Given the description of an element on the screen output the (x, y) to click on. 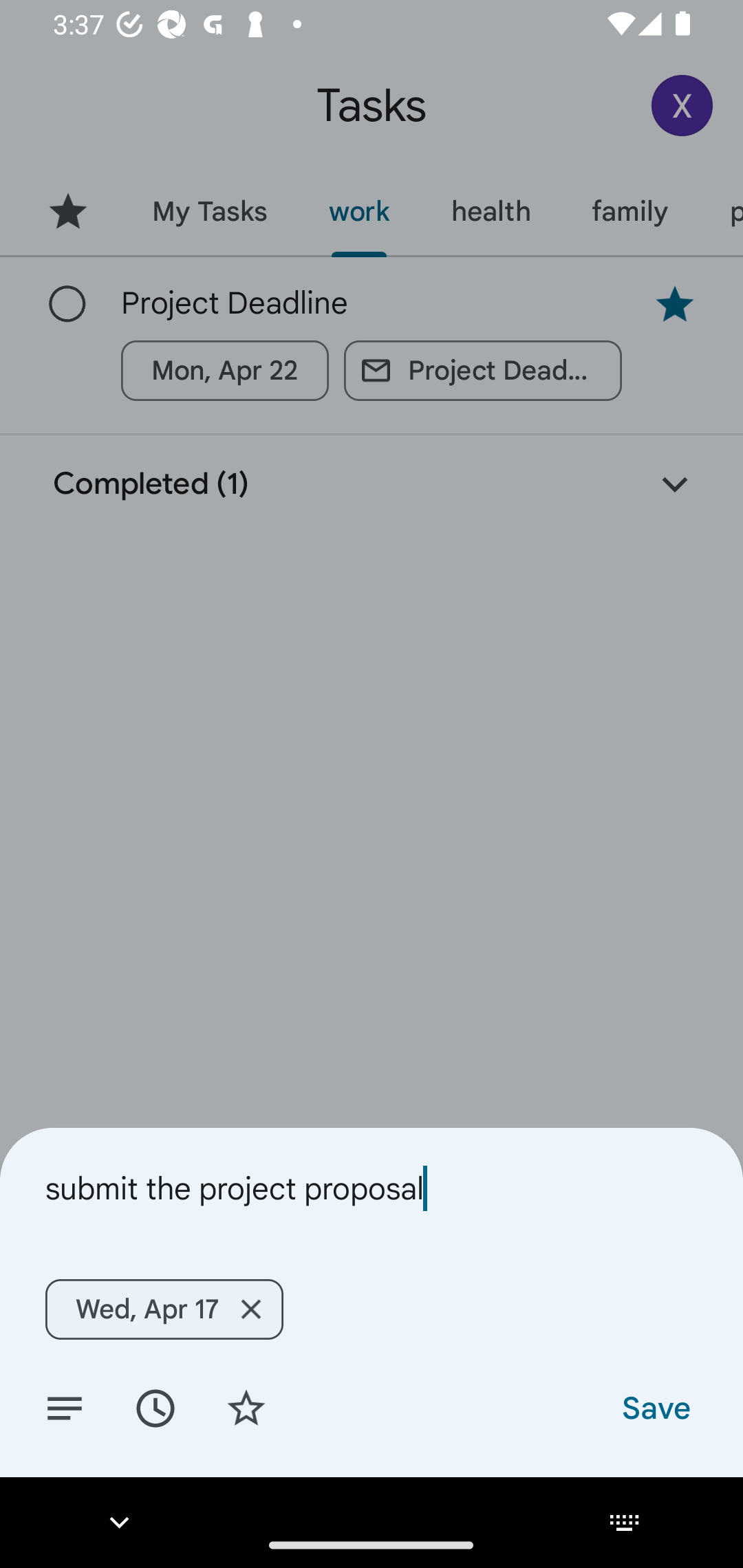
submit the project proposal (371, 1188)
Wed, Apr 17 Remove Wed, Apr 17 (164, 1308)
Save (655, 1407)
Add details (64, 1407)
Set date/time (154, 1407)
Add star (245, 1407)
